Given the description of an element on the screen output the (x, y) to click on. 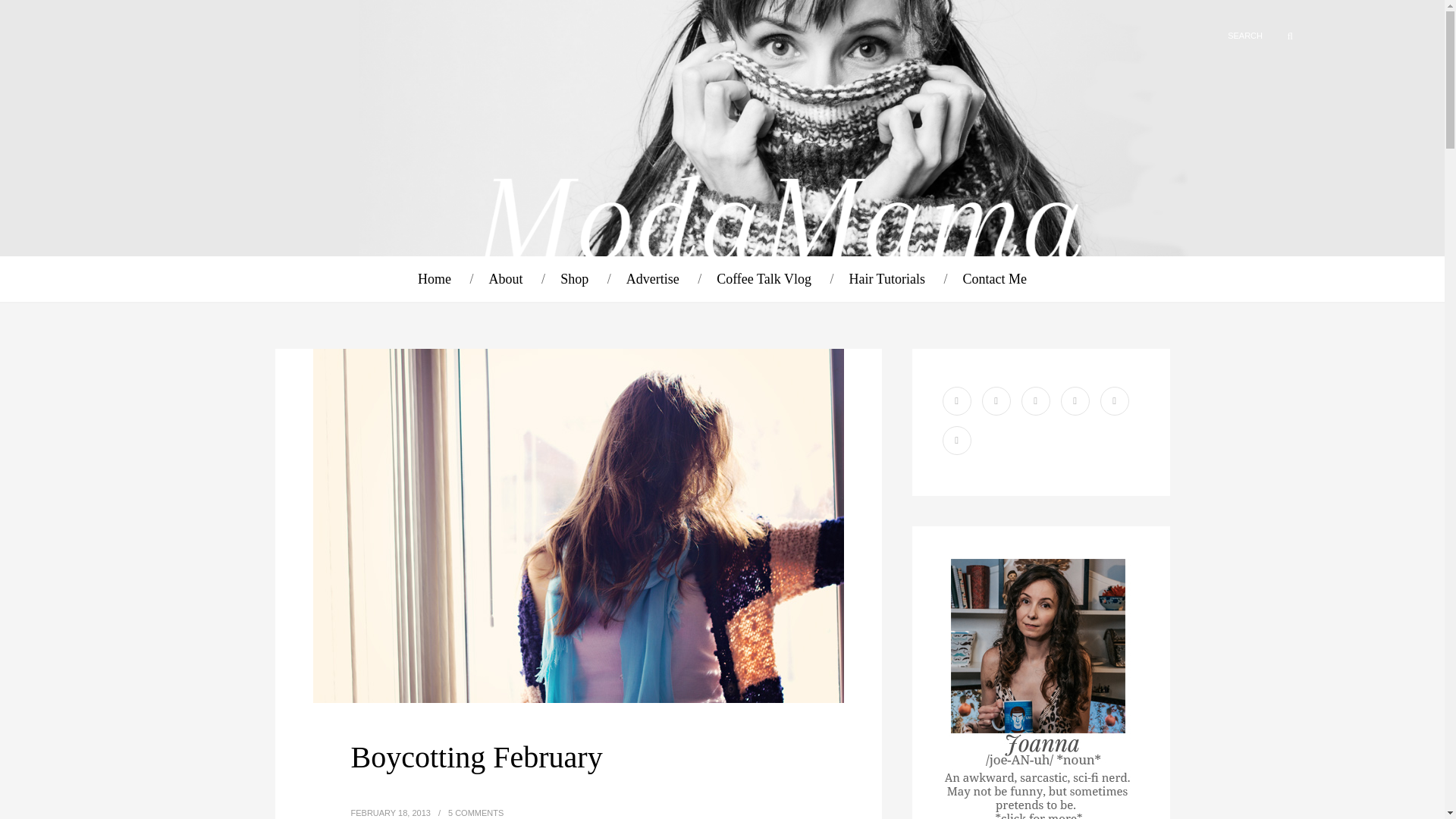
About (505, 278)
Contact Me (994, 278)
Hair Tutorials (886, 278)
Coffee Talk Vlog (763, 278)
Search (1280, 35)
5 COMMENTS (475, 812)
Advertise (652, 278)
Home (434, 278)
SEARCH (1220, 35)
Shop (574, 278)
